Given the description of an element on the screen output the (x, y) to click on. 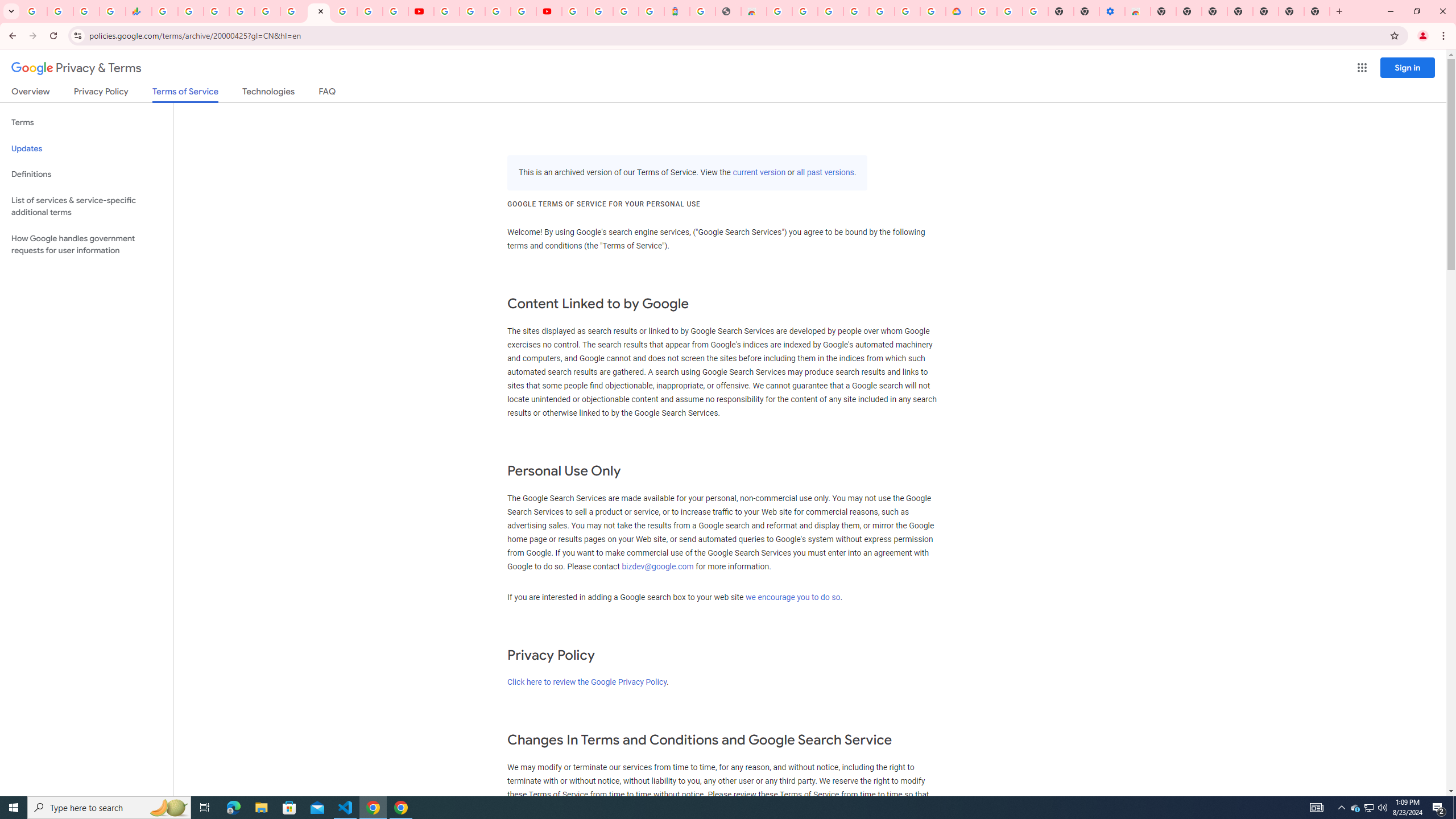
current version (759, 172)
Turn cookies on or off - Computer - Google Account Help (1034, 11)
Sign in - Google Accounts (830, 11)
bizdev@google.com  (658, 566)
Sign in - Google Accounts (983, 11)
Sign in - Google Accounts (600, 11)
Privacy Checkup (395, 11)
